Given the description of an element on the screen output the (x, y) to click on. 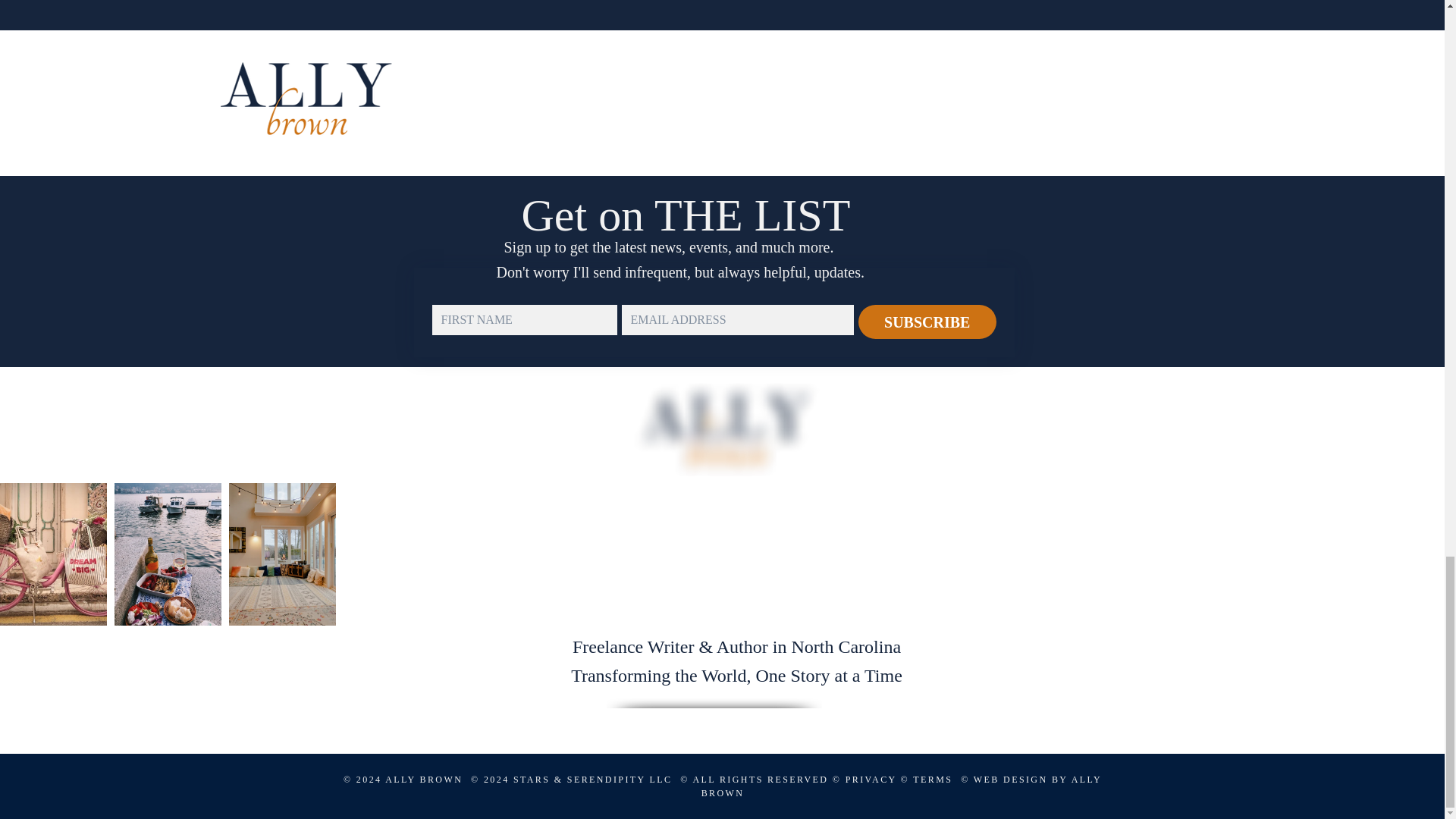
TERMS  (934, 778)
SUBSCRIBE (927, 321)
PRIVACY (870, 778)
Pause for a Moment . . . (476, 92)
WEB DESIGN BY ALLY BROWN (901, 785)
